Given the description of an element on the screen output the (x, y) to click on. 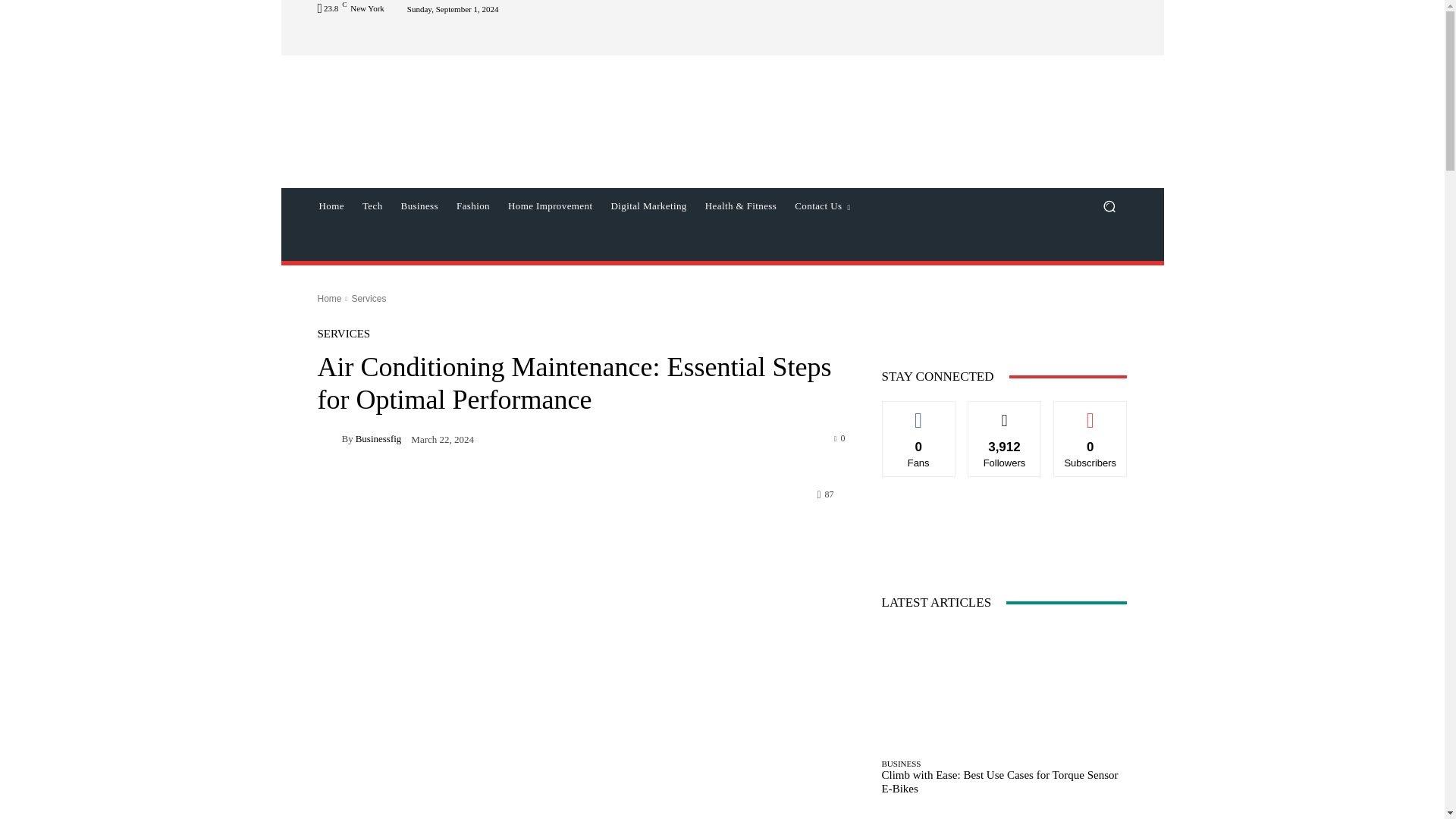
Contact Us (822, 206)
Fashion (472, 206)
Digital Marketing (648, 206)
Home Improvement (550, 206)
Home (330, 206)
Tech (372, 206)
Businessfig (328, 437)
Business (418, 206)
View all posts in Services (367, 298)
